Given the description of an element on the screen output the (x, y) to click on. 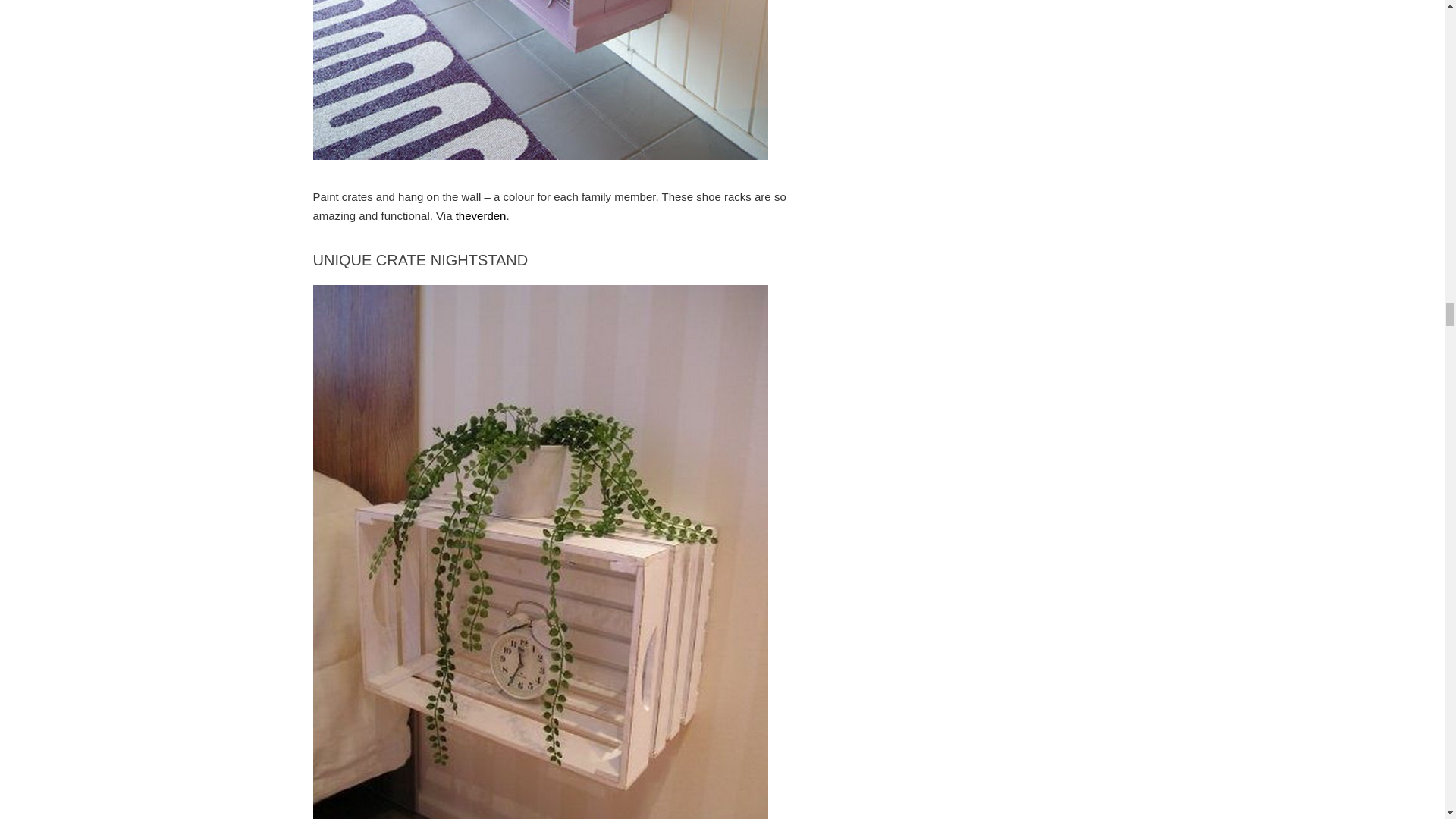
theverden (480, 215)
